Given the description of an element on the screen output the (x, y) to click on. 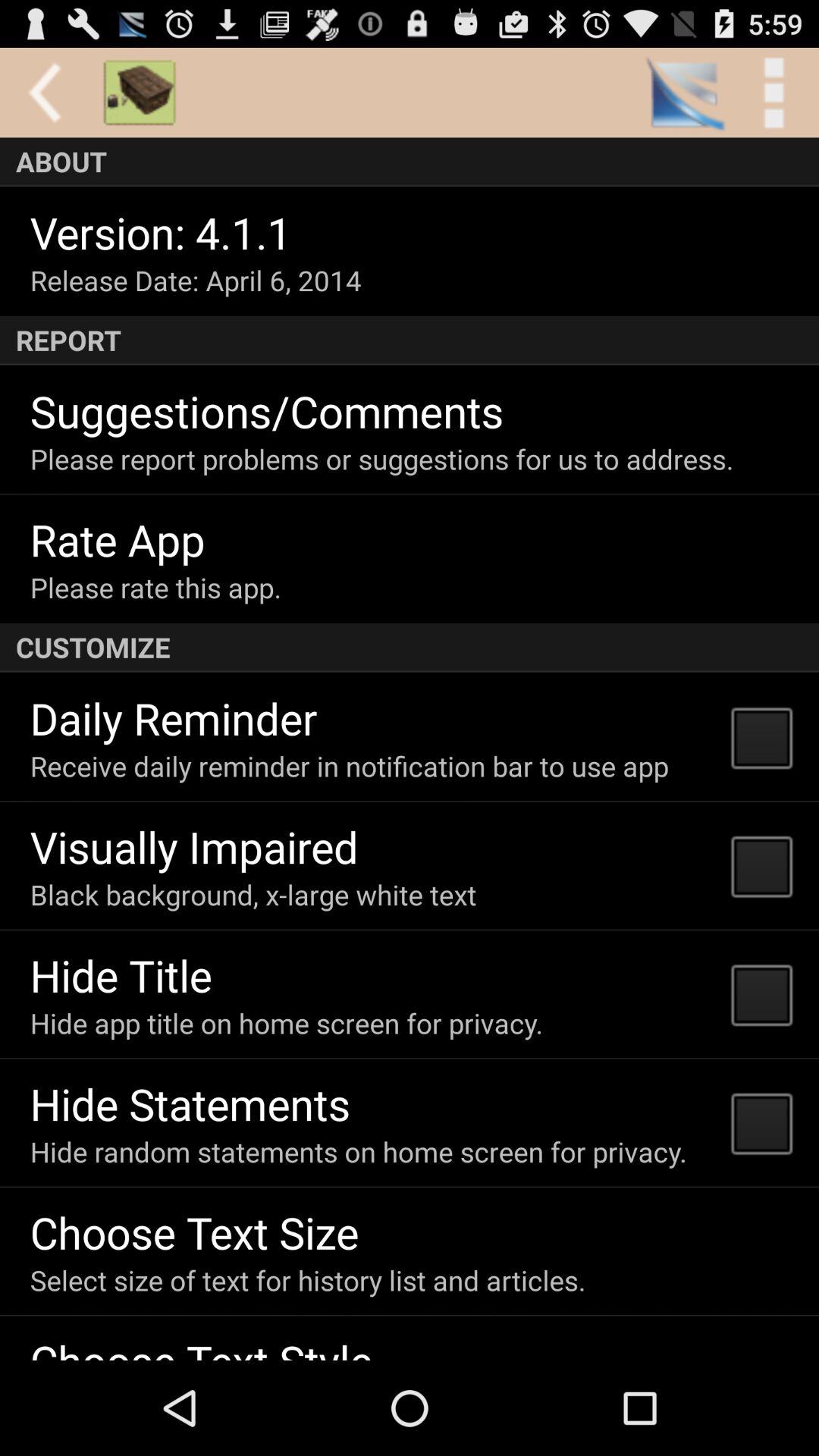
choose suggestions/comments app (266, 410)
